Given the description of an element on the screen output the (x, y) to click on. 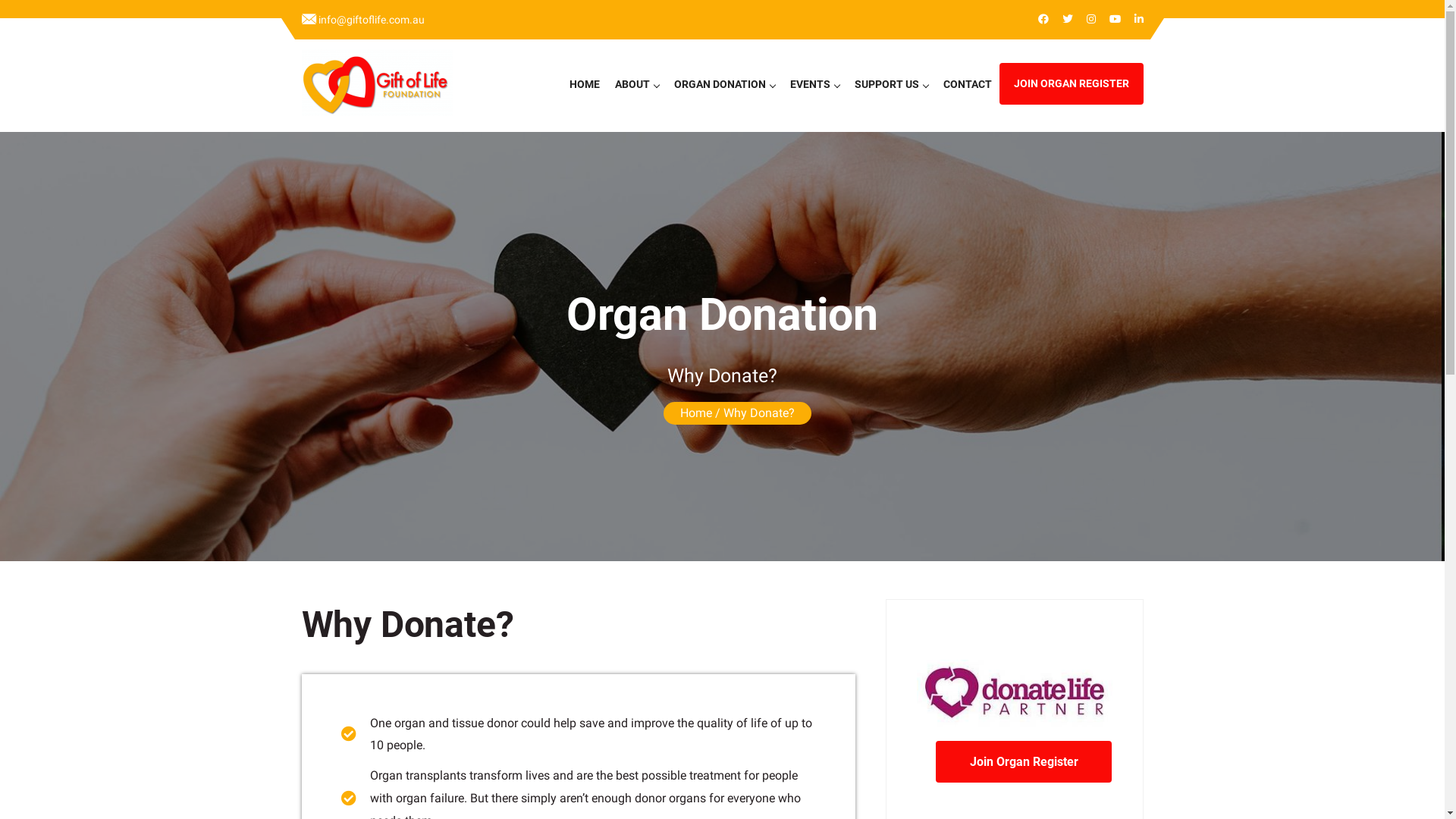
info@giftoflife.com.au Element type: text (362, 19)
EVENTS Element type: text (814, 84)
JOIN ORGAN REGISTER Element type: text (1071, 83)
ABOUT Element type: text (635, 84)
Join Organ Register Element type: text (1023, 761)
CONTACT Element type: text (967, 84)
HOME Element type: text (583, 84)
Home Element type: text (696, 412)
ORGAN DONATION Element type: text (723, 84)
SUPPORT US Element type: text (890, 84)
